Given the description of an element on the screen output the (x, y) to click on. 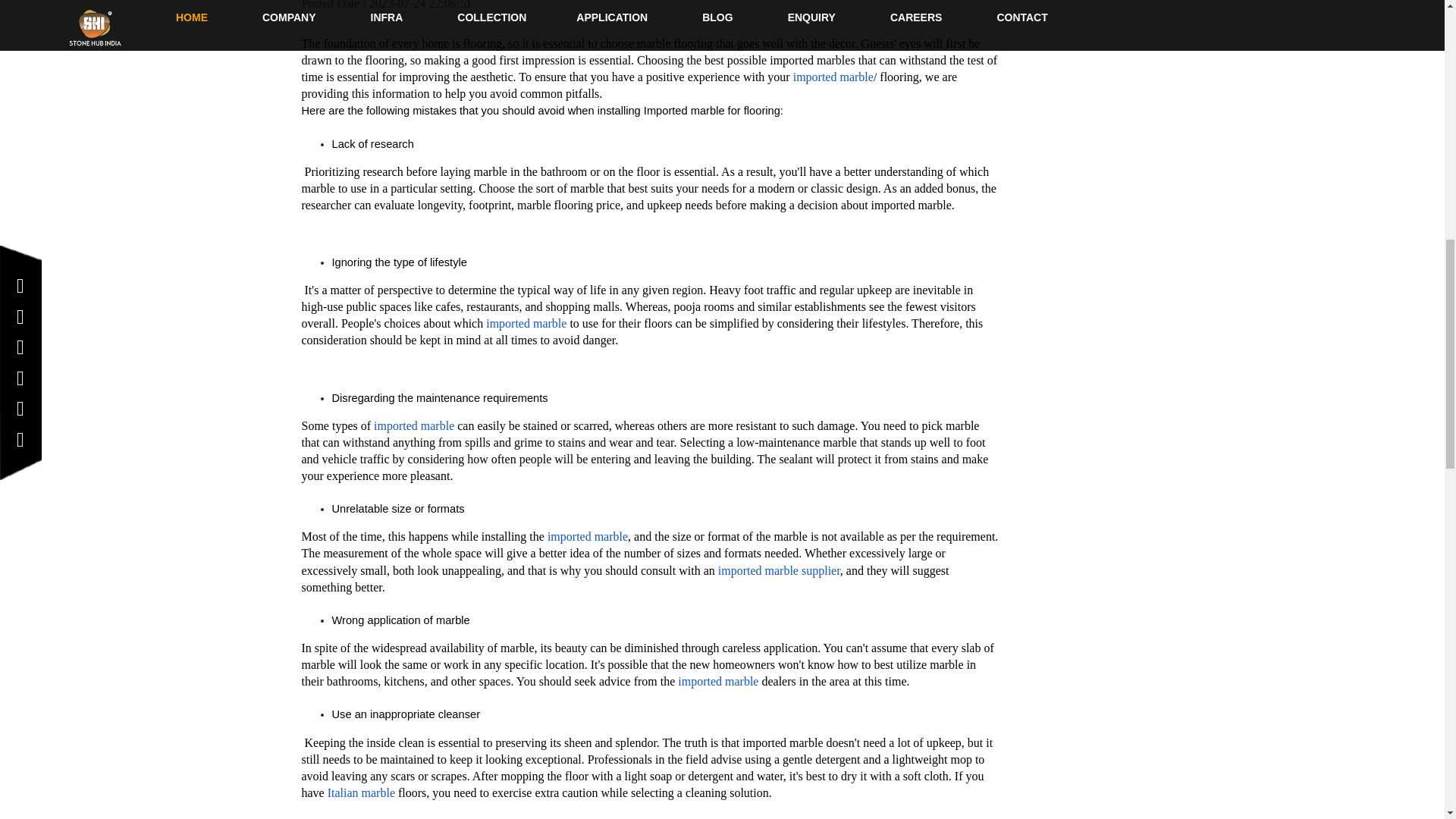
imported marble (718, 680)
Italian marble (360, 792)
 imported marble (585, 535)
imported marble (833, 76)
 imported marble  (526, 323)
imported marble supplier (778, 570)
imported marble (414, 425)
